Given the description of an element on the screen output the (x, y) to click on. 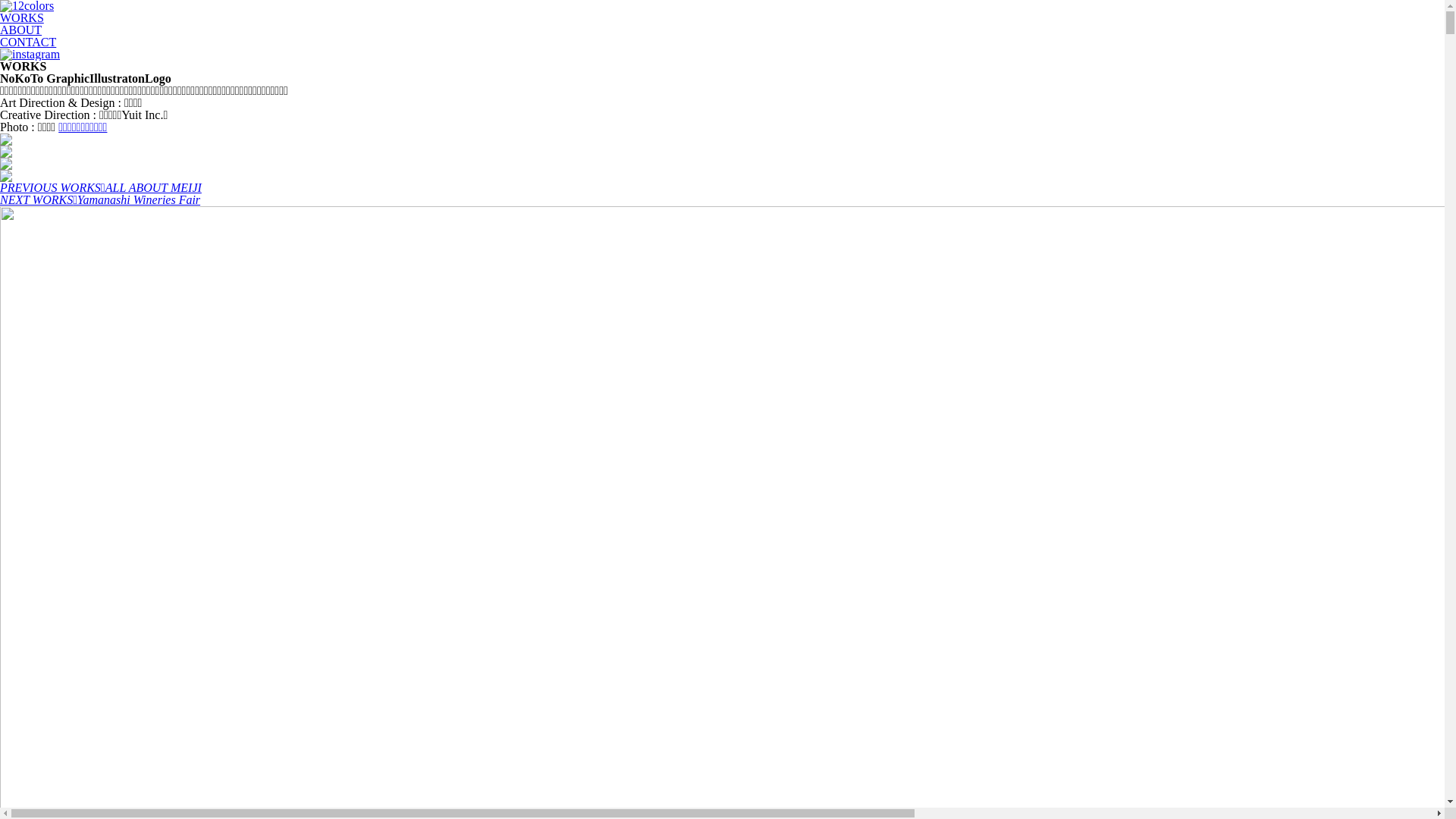
ABOUT Element type: text (20, 29)
WORKS Element type: text (21, 17)
CONTACT Element type: text (28, 41)
